Given the description of an element on the screen output the (x, y) to click on. 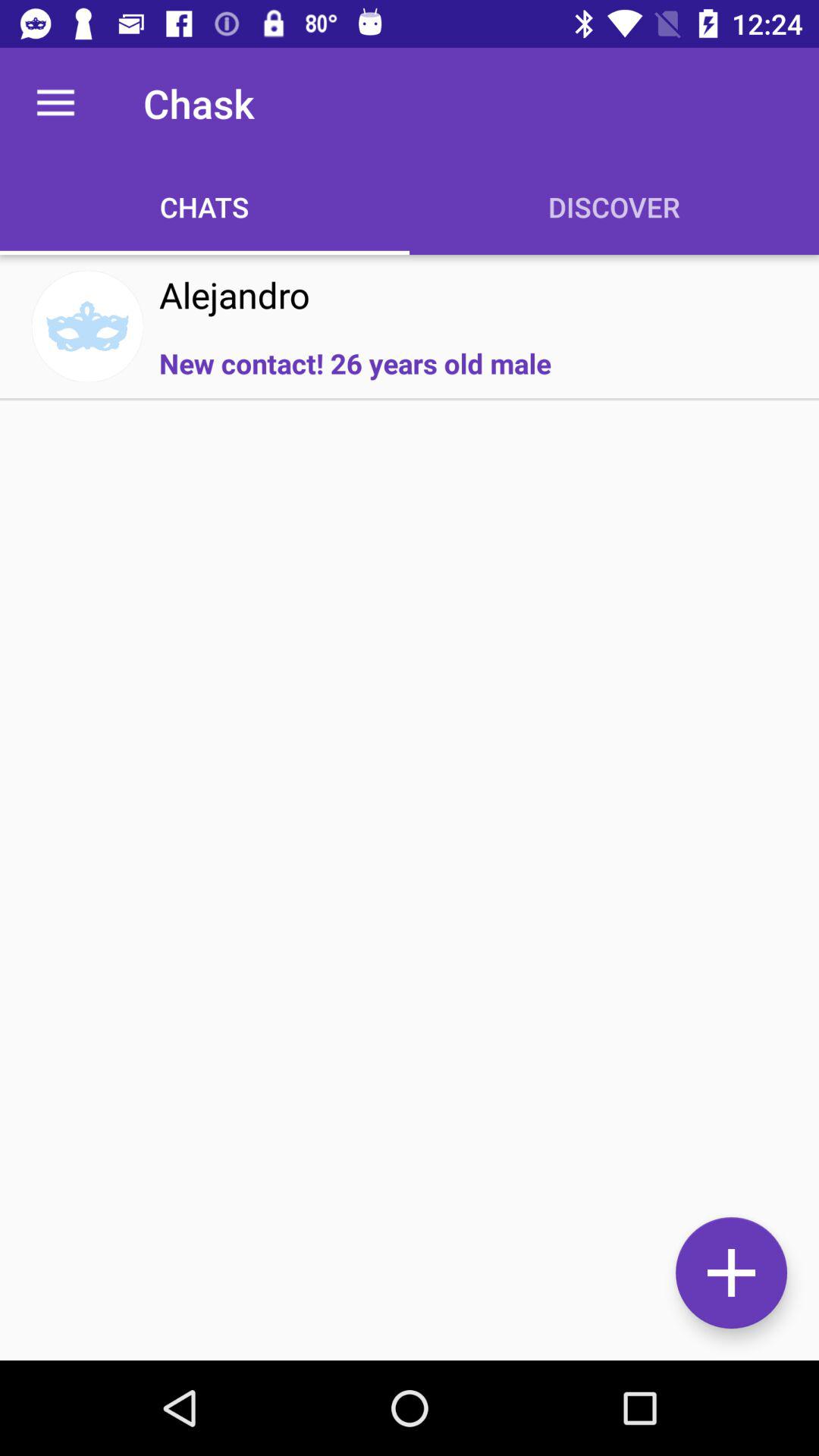
scroll to new contact 26 icon (355, 363)
